Given the description of an element on the screen output the (x, y) to click on. 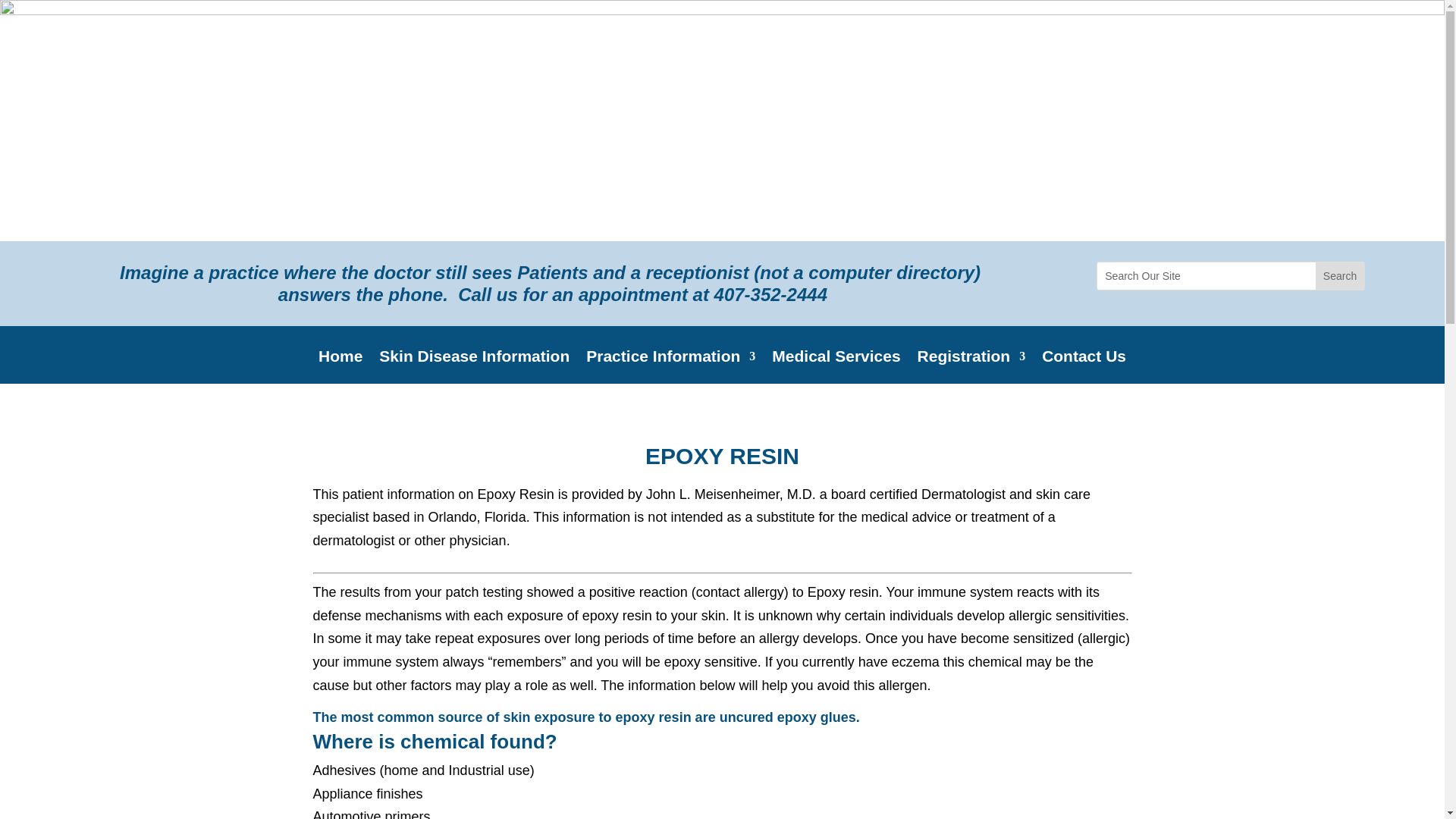
Skin Disease Information (473, 366)
Contact Us (1083, 366)
Search (1340, 275)
Home (340, 366)
Practice Information (670, 366)
Search (1340, 275)
Medical Services (835, 366)
Registration (971, 366)
Search (1340, 275)
